Given the description of an element on the screen output the (x, y) to click on. 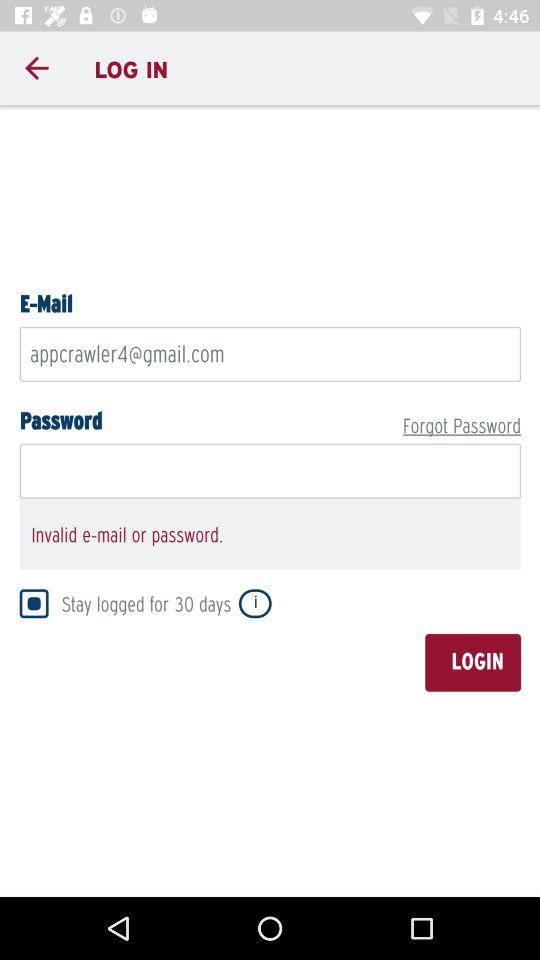
grassland (270, 498)
